Given the description of an element on the screen output the (x, y) to click on. 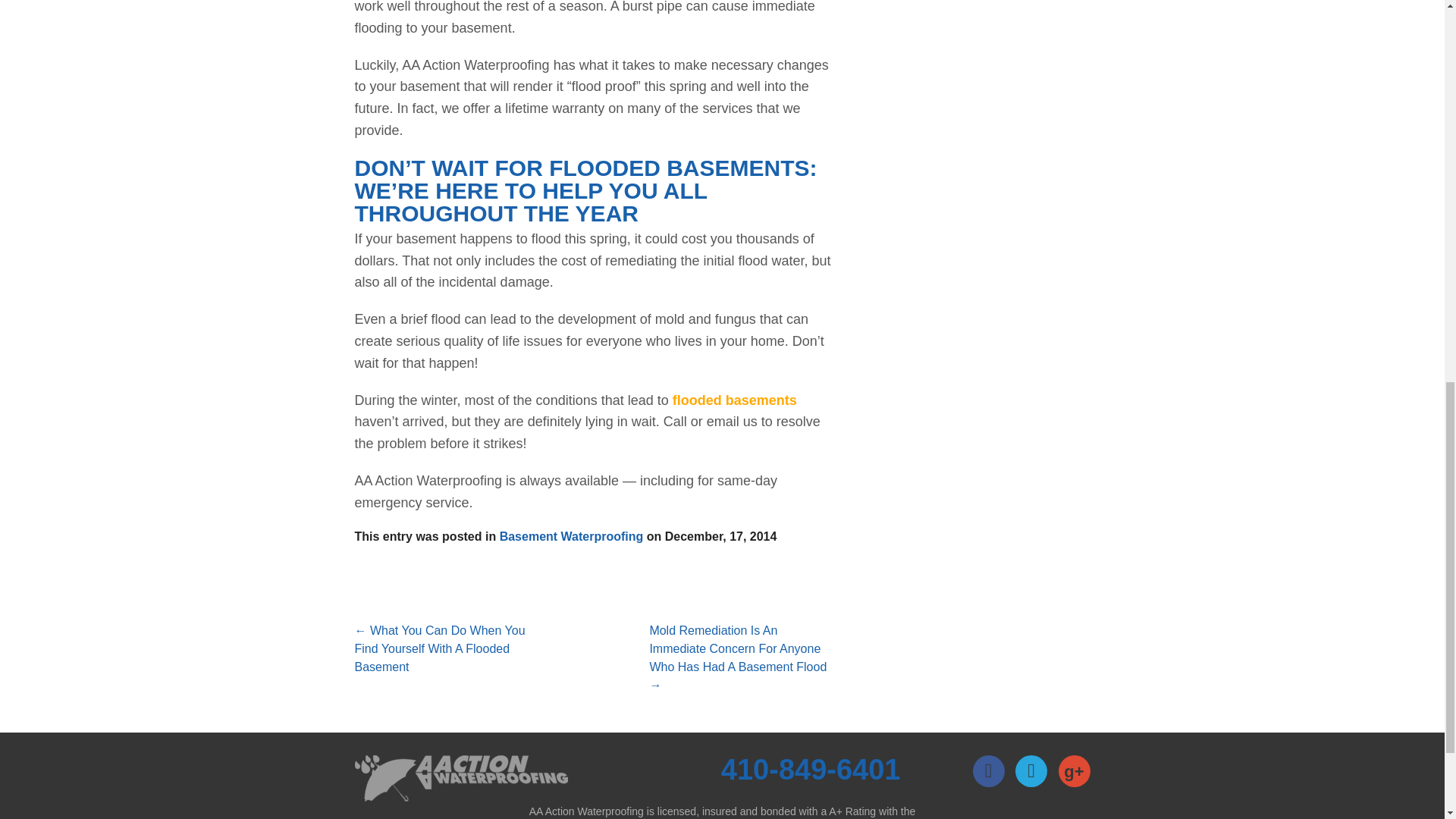
Basement Waterproofing (571, 535)
410-849-6401 (810, 769)
flooded basements (734, 400)
